Given the description of an element on the screen output the (x, y) to click on. 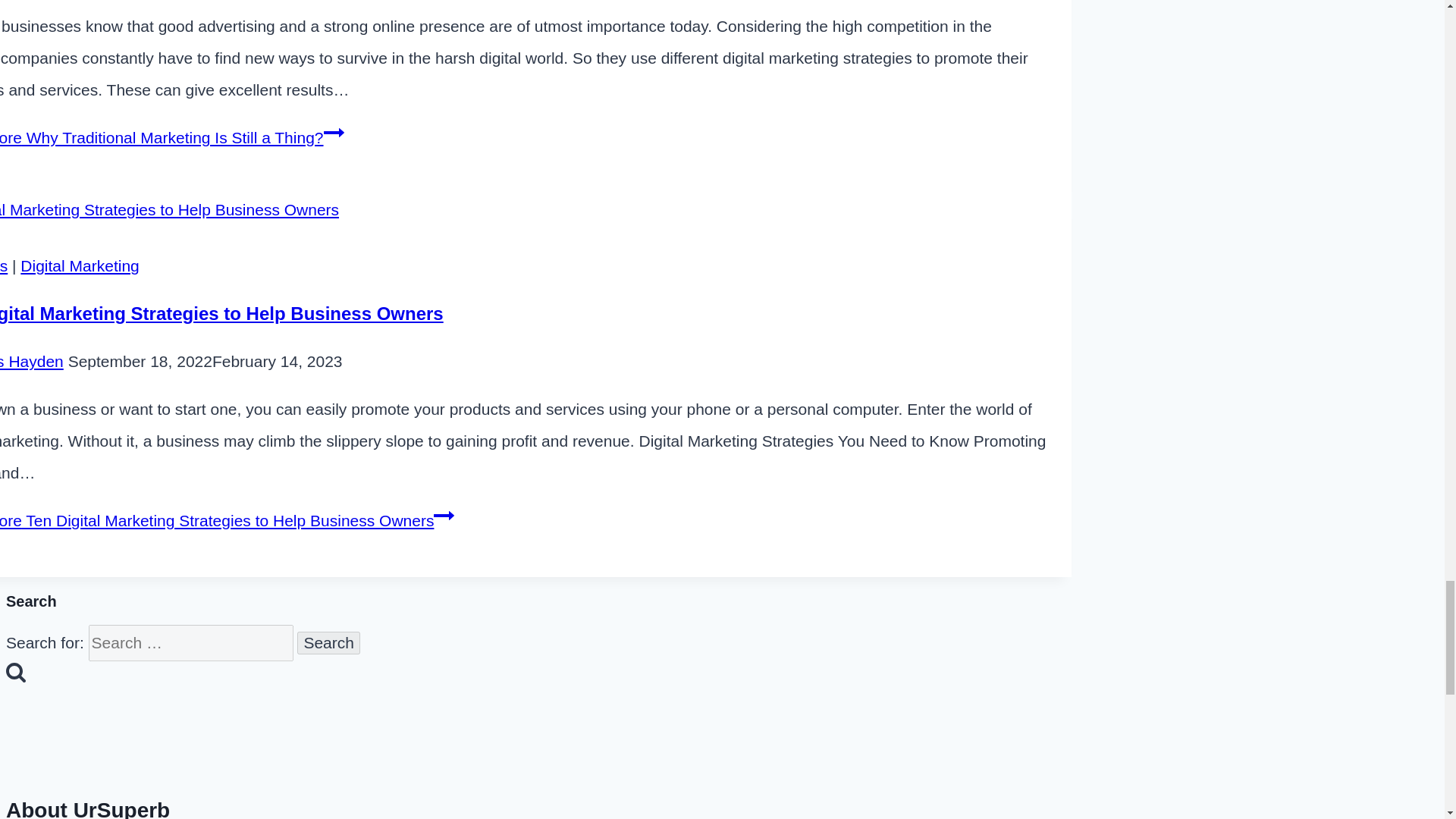
Search (15, 671)
Search (328, 642)
Digital Marketing (79, 265)
Continue (333, 132)
Search (328, 642)
Business (3, 265)
Continue (443, 515)
